Given the description of an element on the screen output the (x, y) to click on. 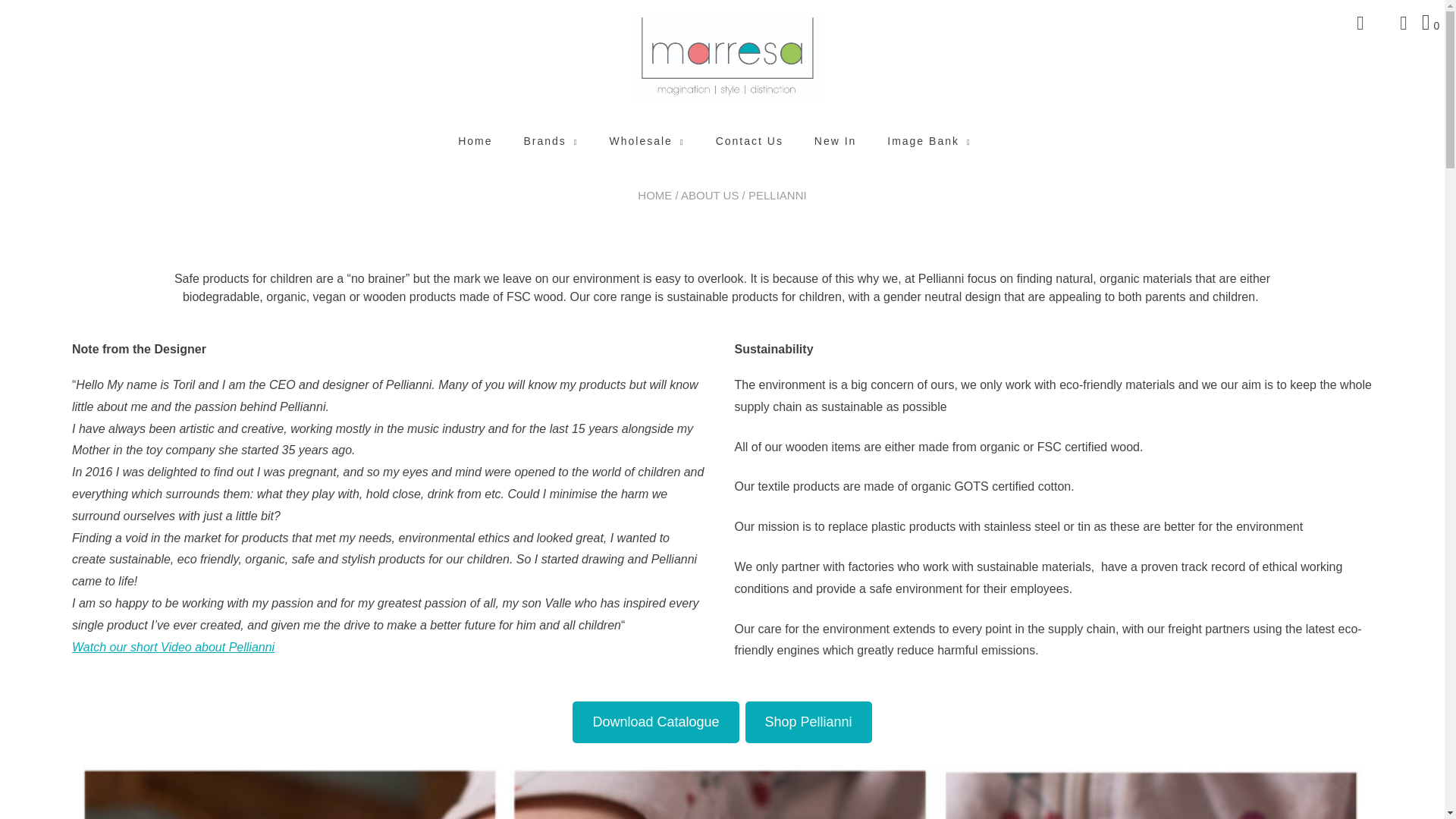
Home (475, 141)
Brands (550, 141)
